Given the description of an element on the screen output the (x, y) to click on. 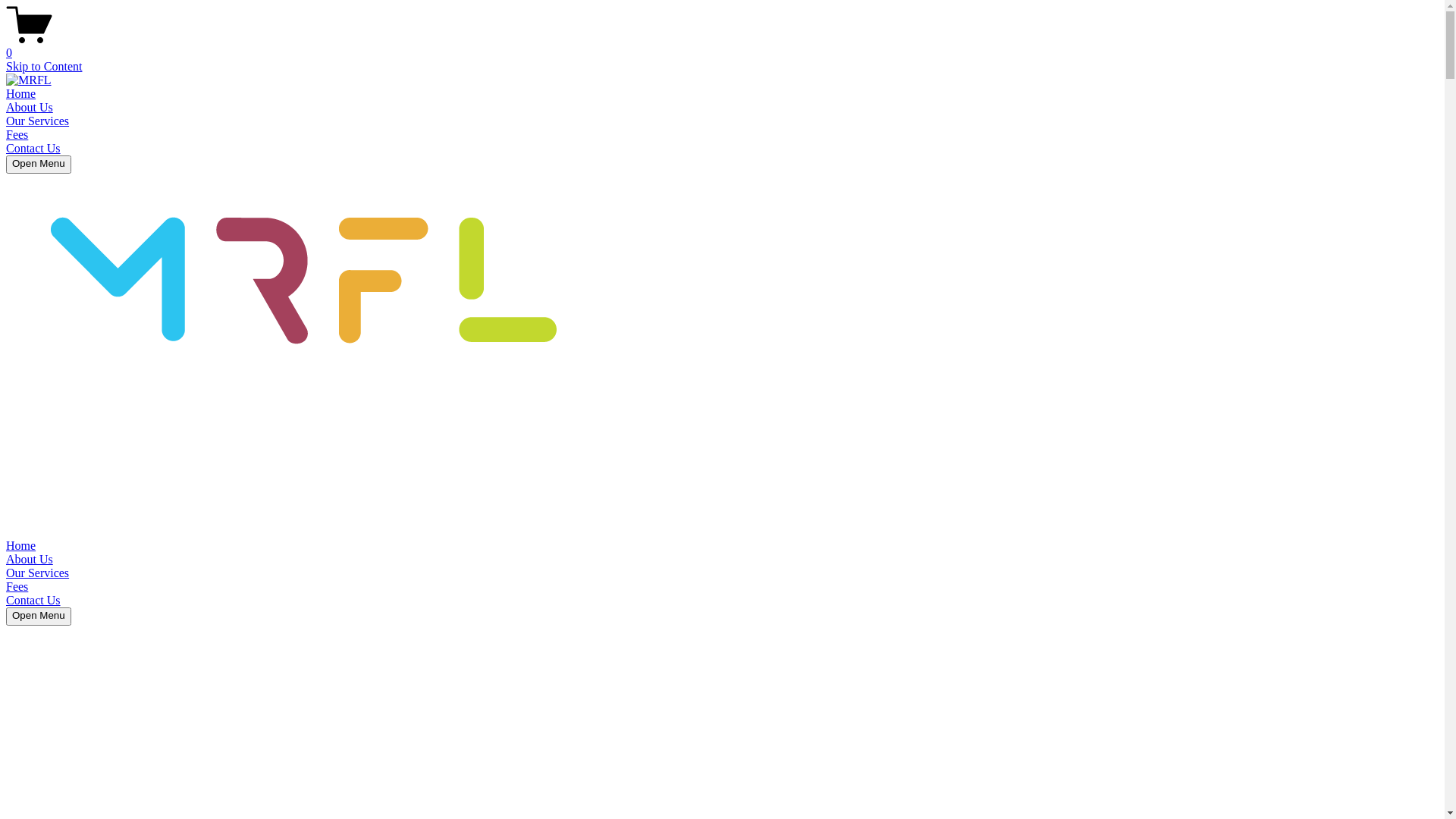
Open Menu Element type: text (38, 616)
About Us Element type: text (29, 558)
Fees Element type: text (17, 586)
Home Element type: text (20, 545)
Skip to Content Element type: text (43, 65)
About Us Element type: text (29, 106)
0 Element type: text (722, 45)
Contact Us Element type: text (33, 599)
Home Element type: text (20, 93)
Contact Us Element type: text (33, 147)
Our Services Element type: text (37, 572)
Our Services Element type: text (37, 120)
Open Menu Element type: text (38, 164)
Fees Element type: text (17, 134)
